Given the description of an element on the screen output the (x, y) to click on. 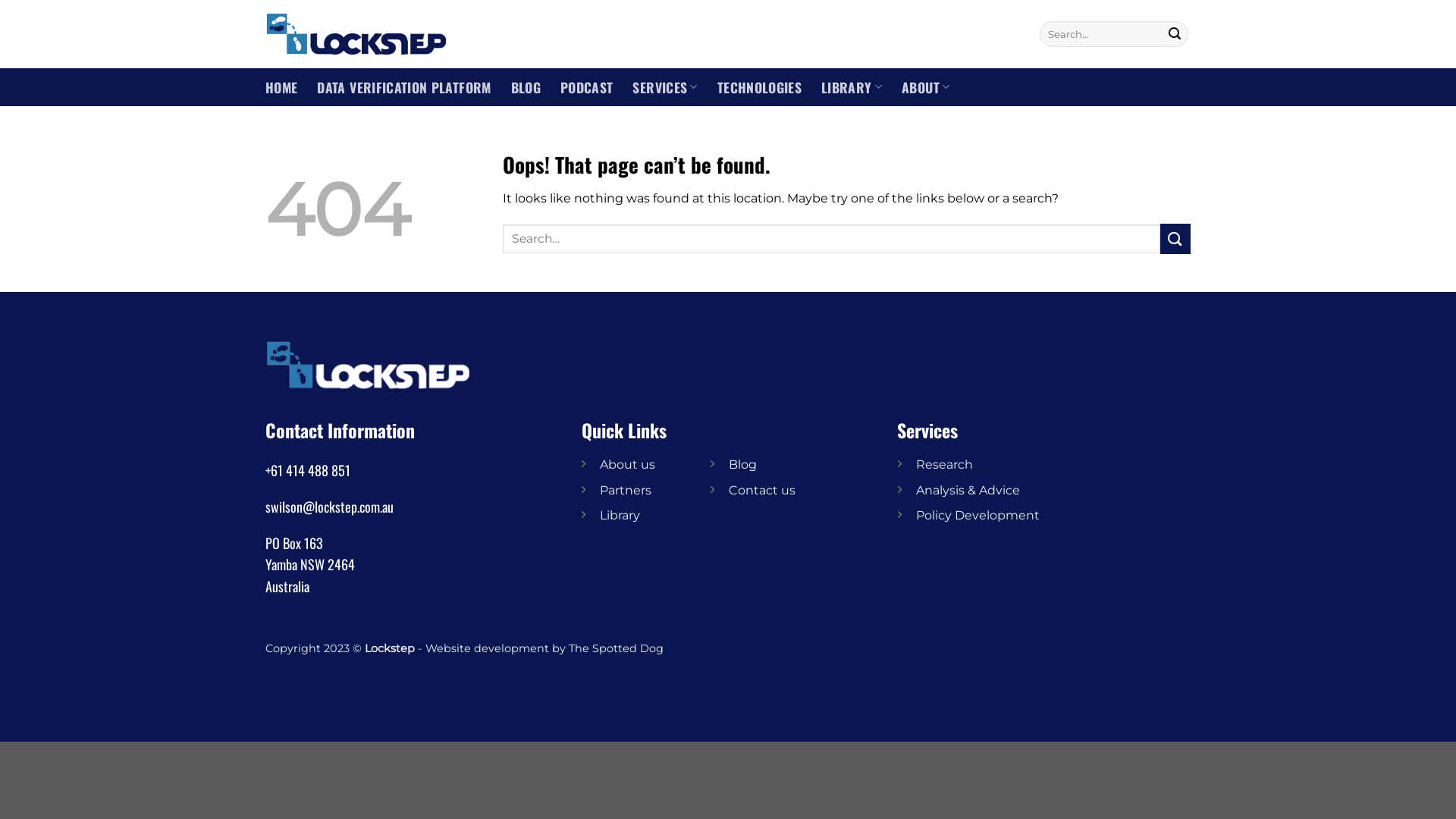
SERVICES Element type: text (664, 86)
The Spotted Dog Element type: text (615, 648)
TECHNOLOGIES Element type: text (759, 86)
PODCAST Element type: text (586, 86)
Skip to content Element type: text (0, 0)
Research Element type: text (944, 464)
+61 414 488 851 Element type: text (307, 470)
LIBRARY Element type: text (851, 86)
About us Element type: text (627, 464)
DATA VERIFICATION PLATFORM Element type: text (403, 86)
Library Element type: text (619, 515)
swilson@lockstep.com.au Element type: text (329, 506)
BLOG Element type: text (525, 86)
HOME Element type: text (281, 86)
Analysis & Advice Element type: text (967, 490)
Policy Development Element type: text (977, 515)
Blog Element type: text (742, 464)
Contact us Element type: text (761, 490)
Partners Element type: text (625, 490)
ABOUT Element type: text (925, 86)
